Given the description of an element on the screen output the (x, y) to click on. 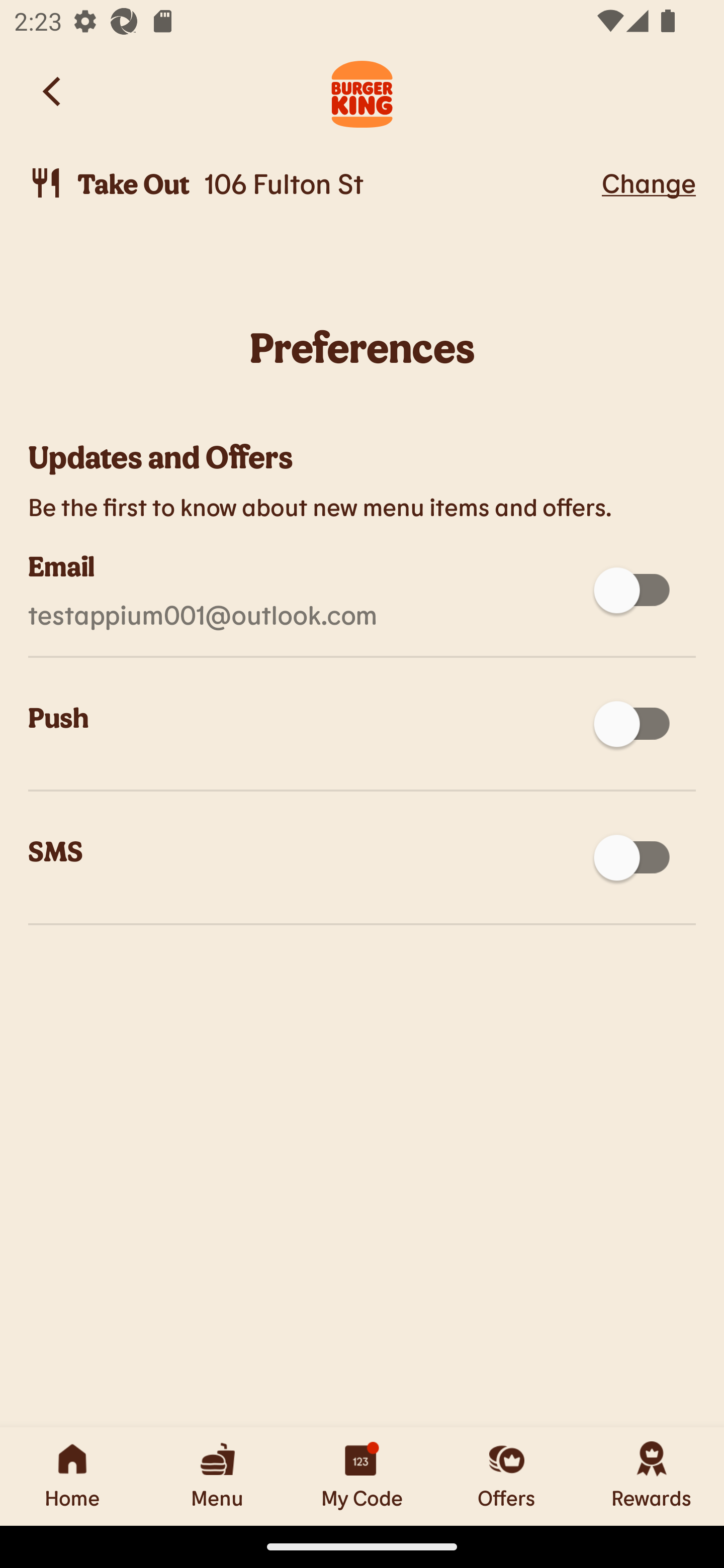
Burger King Logo. Navigate to Home (362, 91)
Back (52, 91)
Take Out, 106 Fulton St  Take Out 106 Fulton St (311, 183)
Change (648, 182)
Home (72, 1475)
Menu (216, 1475)
My Code (361, 1475)
Offers (506, 1475)
Rewards (651, 1475)
